Given the description of an element on the screen output the (x, y) to click on. 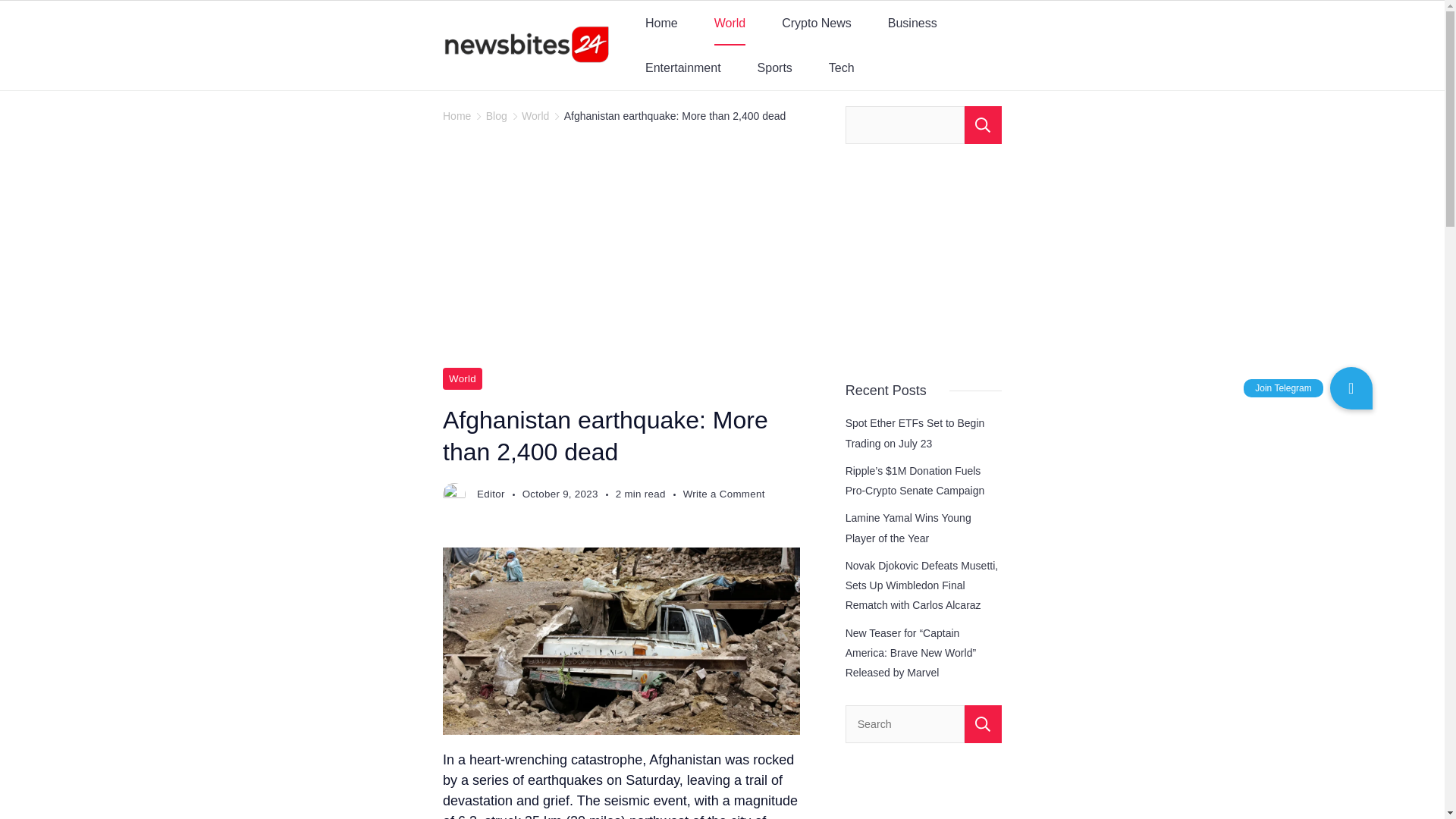
World (461, 378)
Tech (841, 67)
Advertisement (738, 255)
World (534, 115)
NewsBites24 (504, 74)
World (729, 22)
Home (456, 115)
Afghanistan earthquake: More than 2,400 dead (675, 115)
Entertainment (683, 67)
Editor (491, 493)
Business (912, 22)
Home (661, 22)
Sports (774, 67)
Blog (496, 115)
Crypto News (815, 22)
